Given the description of an element on the screen output the (x, y) to click on. 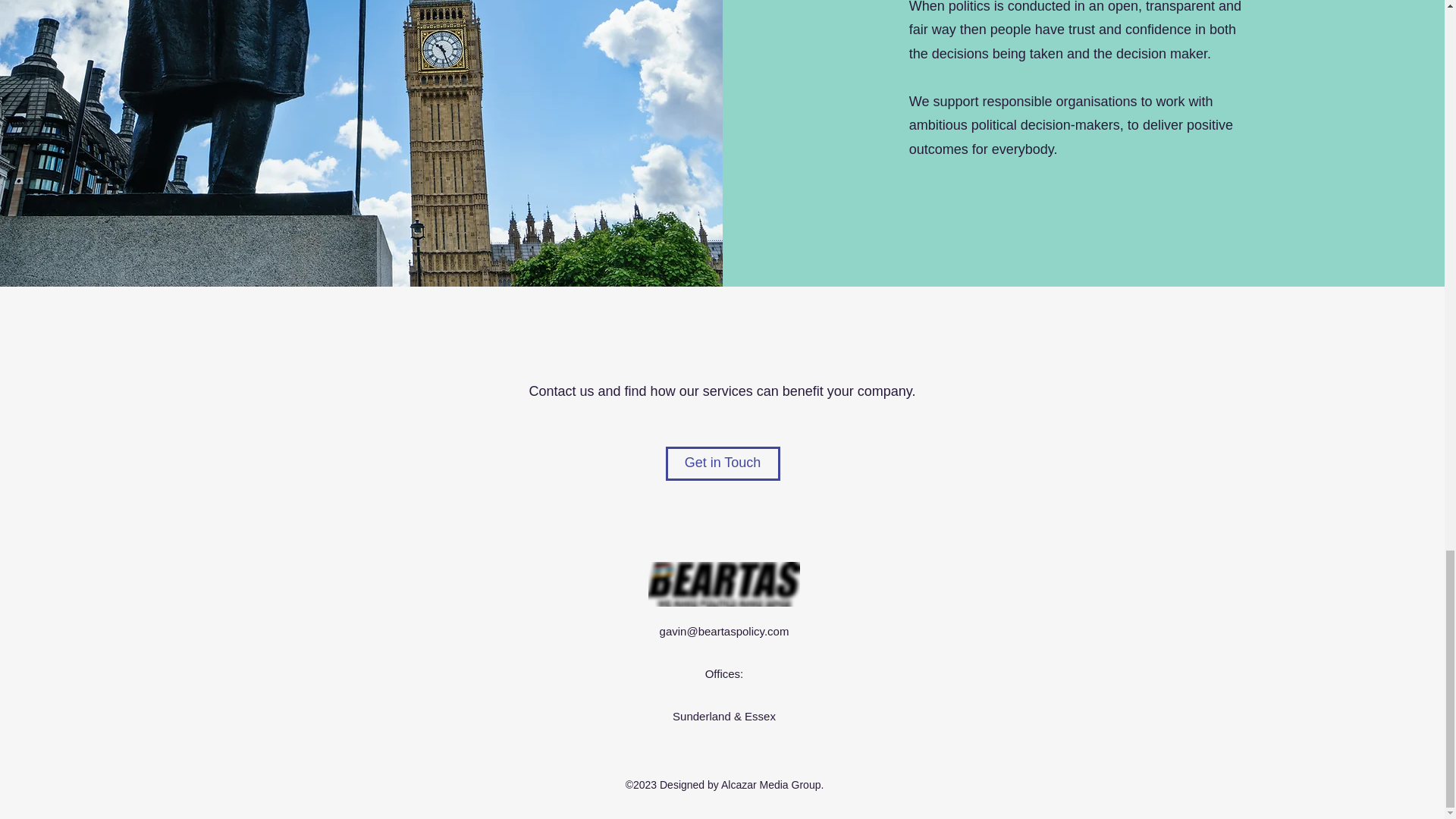
Beartas Logo slogan Black.png (723, 583)
Get in Touch (722, 463)
